Given the description of an element on the screen output the (x, y) to click on. 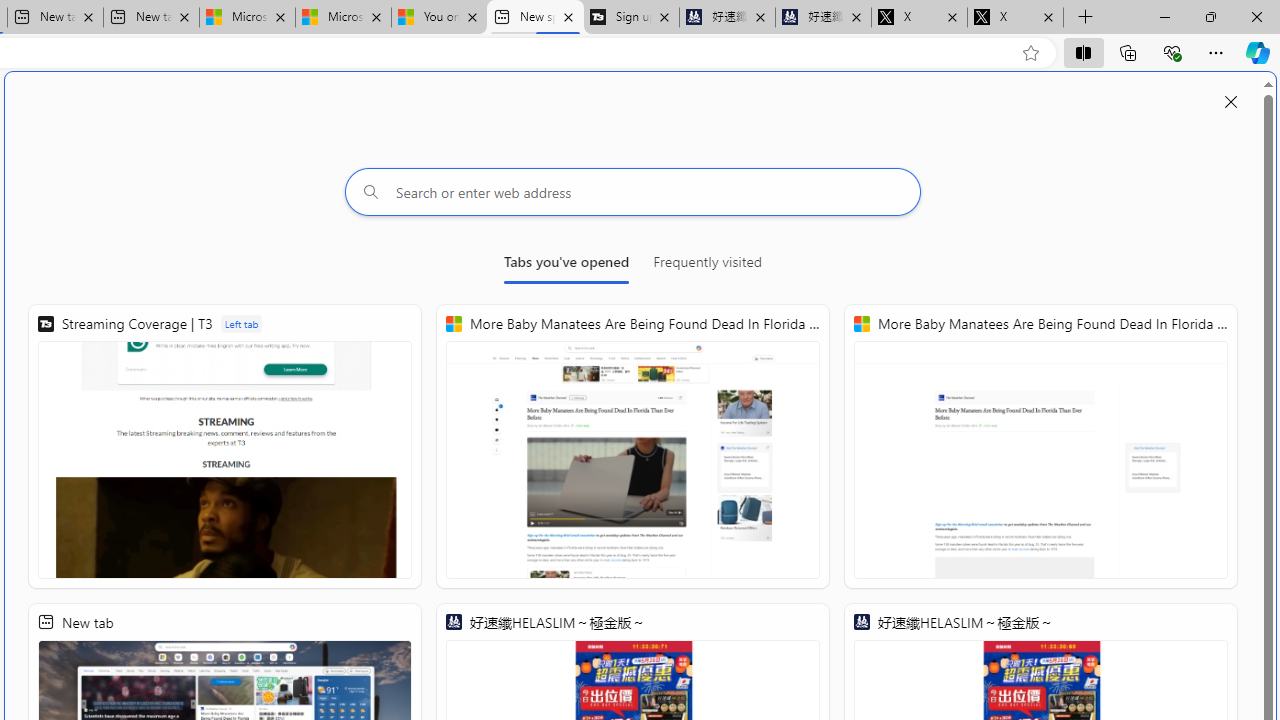
Tabs you've opened (566, 265)
